Given the description of an element on the screen output the (x, y) to click on. 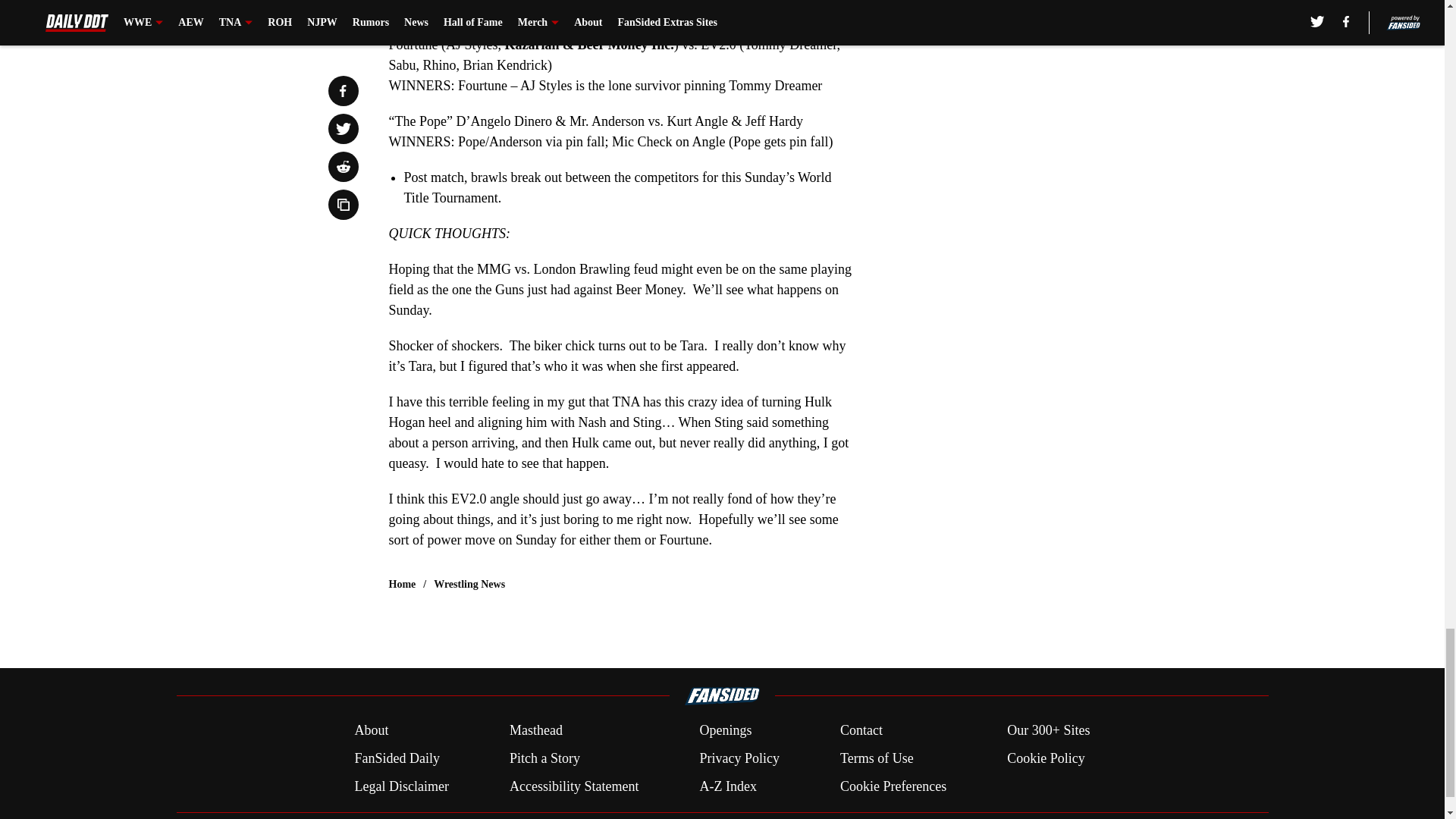
Home (401, 584)
FanSided Daily (396, 758)
Pitch a Story (544, 758)
Openings (724, 730)
About (370, 730)
Masthead (535, 730)
Wrestling News (469, 584)
Contact (861, 730)
